Given the description of an element on the screen output the (x, y) to click on. 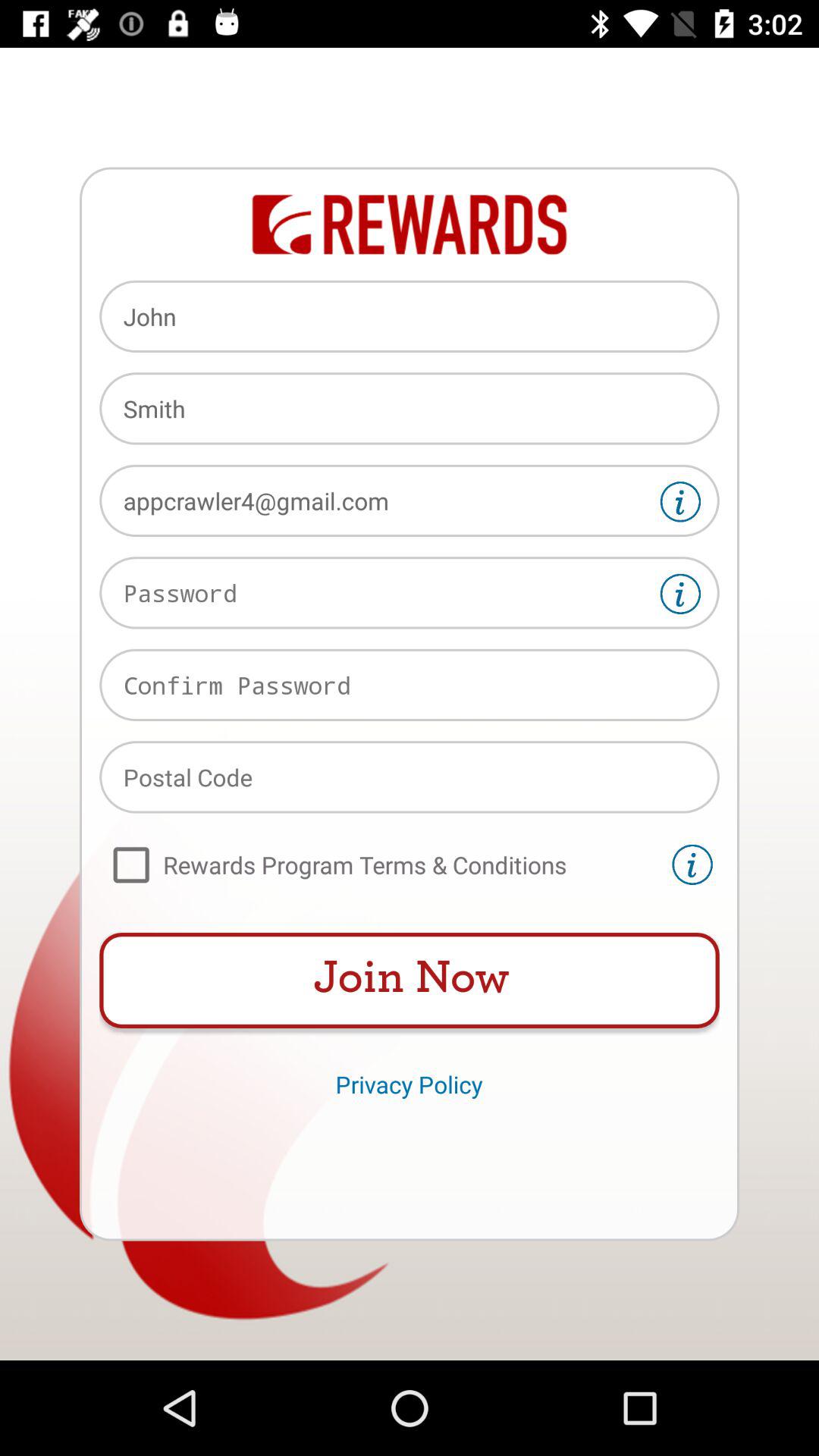
swipe until smith item (409, 408)
